Given the description of an element on the screen output the (x, y) to click on. 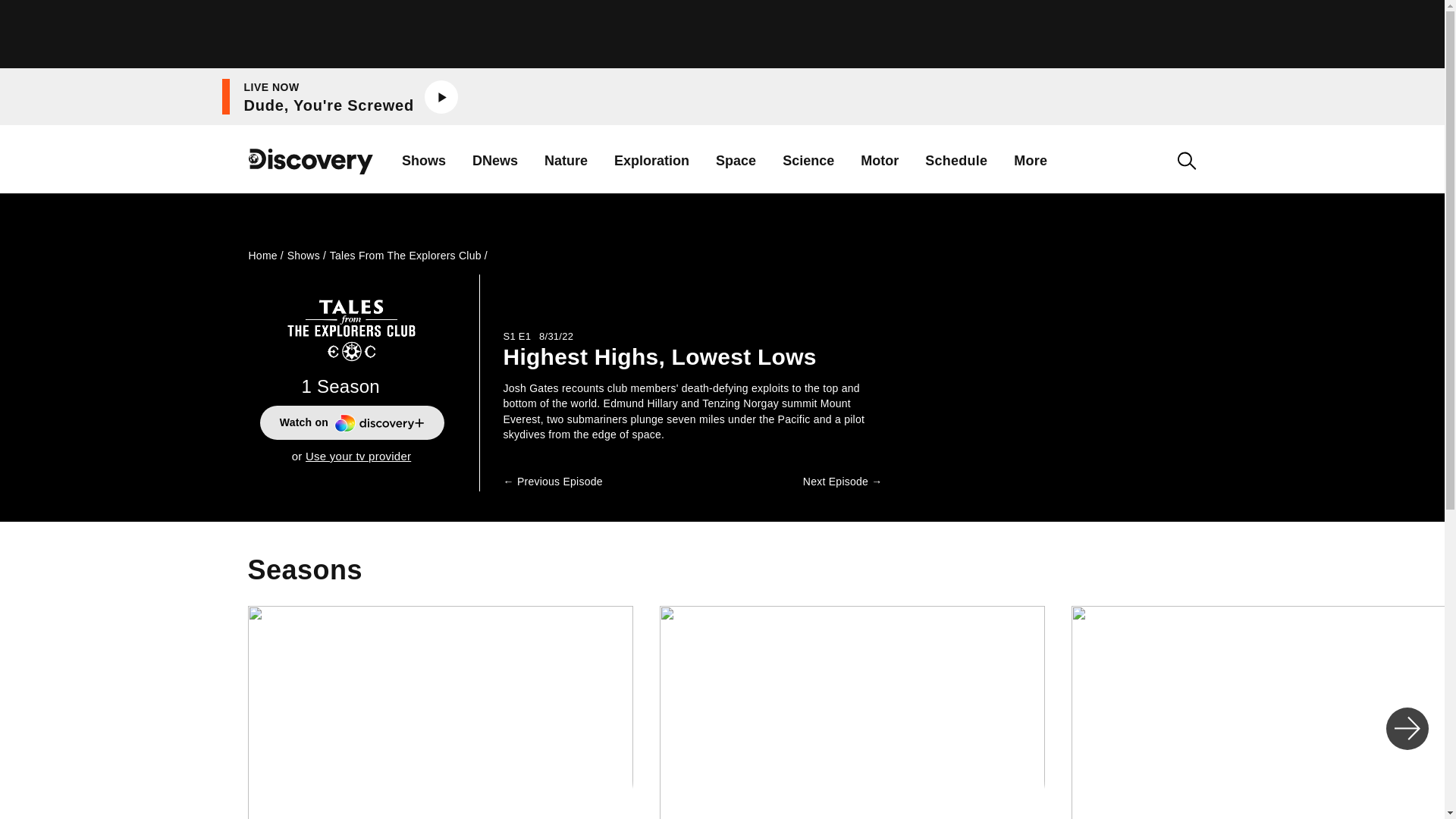
home (310, 173)
